Given the description of an element on the screen output the (x, y) to click on. 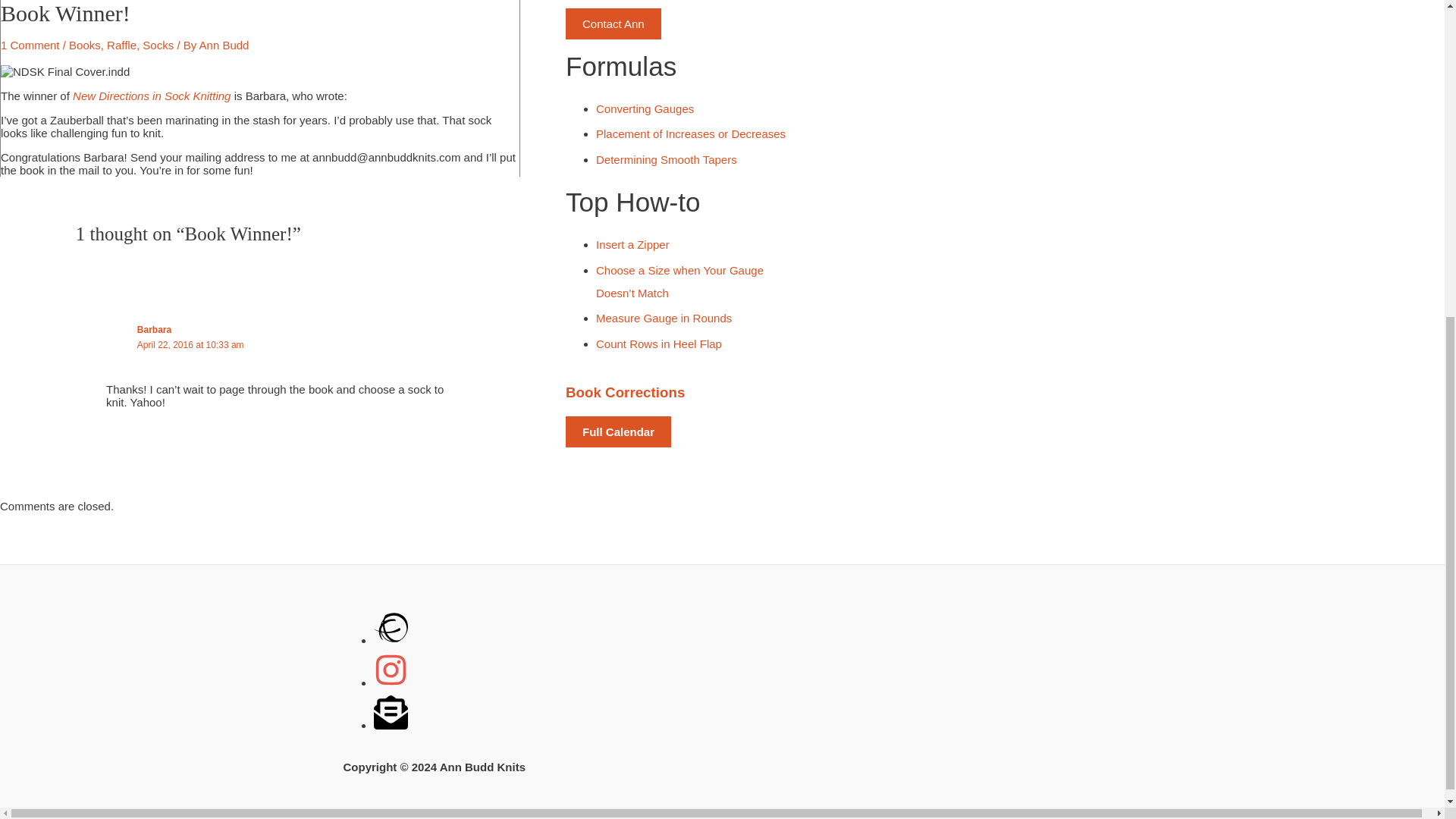
Placement of Increases or Decreases (690, 133)
Ann Budd (223, 44)
Count Rows in Heel Flap (658, 343)
Full Calendar (618, 431)
Measure Gauge in Rounds (663, 318)
1 Comment (30, 44)
Book Corrections (625, 392)
Determining Smooth Tapers (665, 159)
Socks (157, 44)
Books (84, 44)
Raffle (121, 44)
Insert a Zipper (632, 244)
Barbara (153, 329)
Converting Gauges (644, 108)
New Directions in Sock Knitting (151, 95)
